Given the description of an element on the screen output the (x, y) to click on. 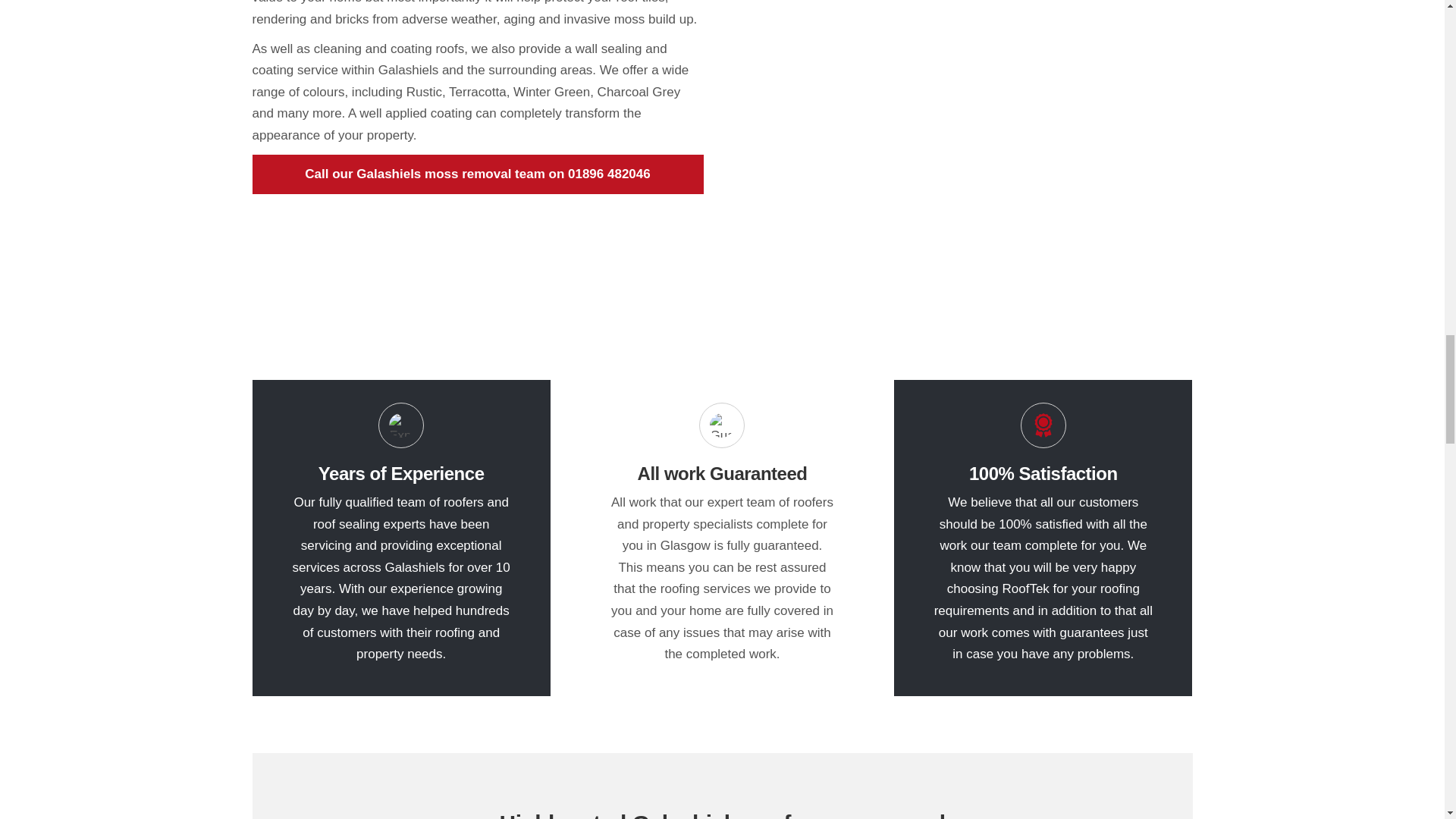
Call our Galashiels moss removal team on 01896 482046 (477, 174)
Galashiels Roof Moss Removal (966, 136)
Experienced moss removal Galashiels (400, 424)
